Given the description of an element on the screen output the (x, y) to click on. 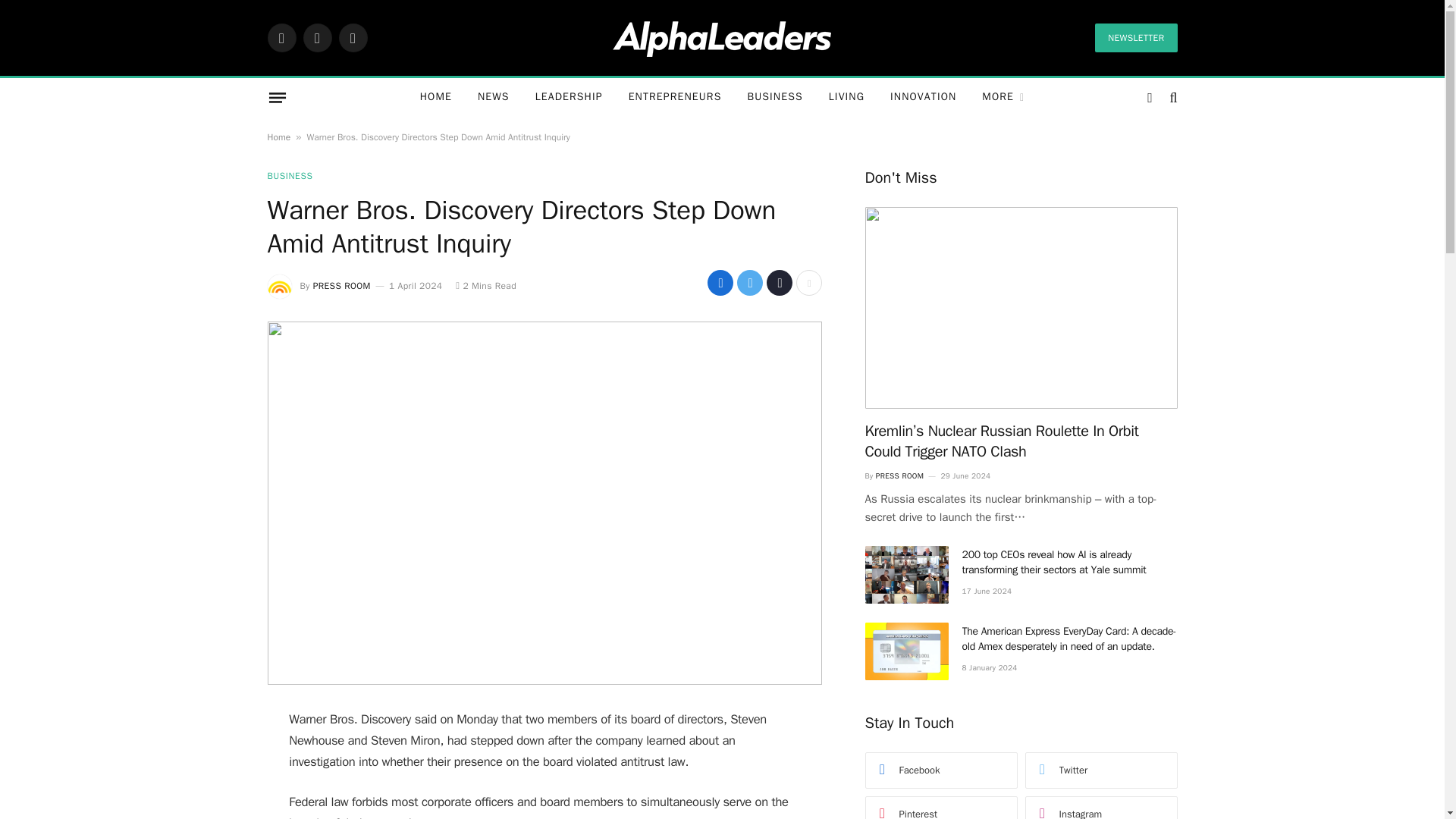
BUSINESS (774, 97)
Posts by Press Room (342, 285)
Alpha Leaders (721, 37)
Switch to Dark Design - easier on eyes. (1149, 97)
Share on Facebook (720, 282)
MORE (1002, 97)
ENTREPRENEURS (675, 97)
NEWS (493, 97)
LIVING (846, 97)
HOME (435, 97)
